Given the description of an element on the screen output the (x, y) to click on. 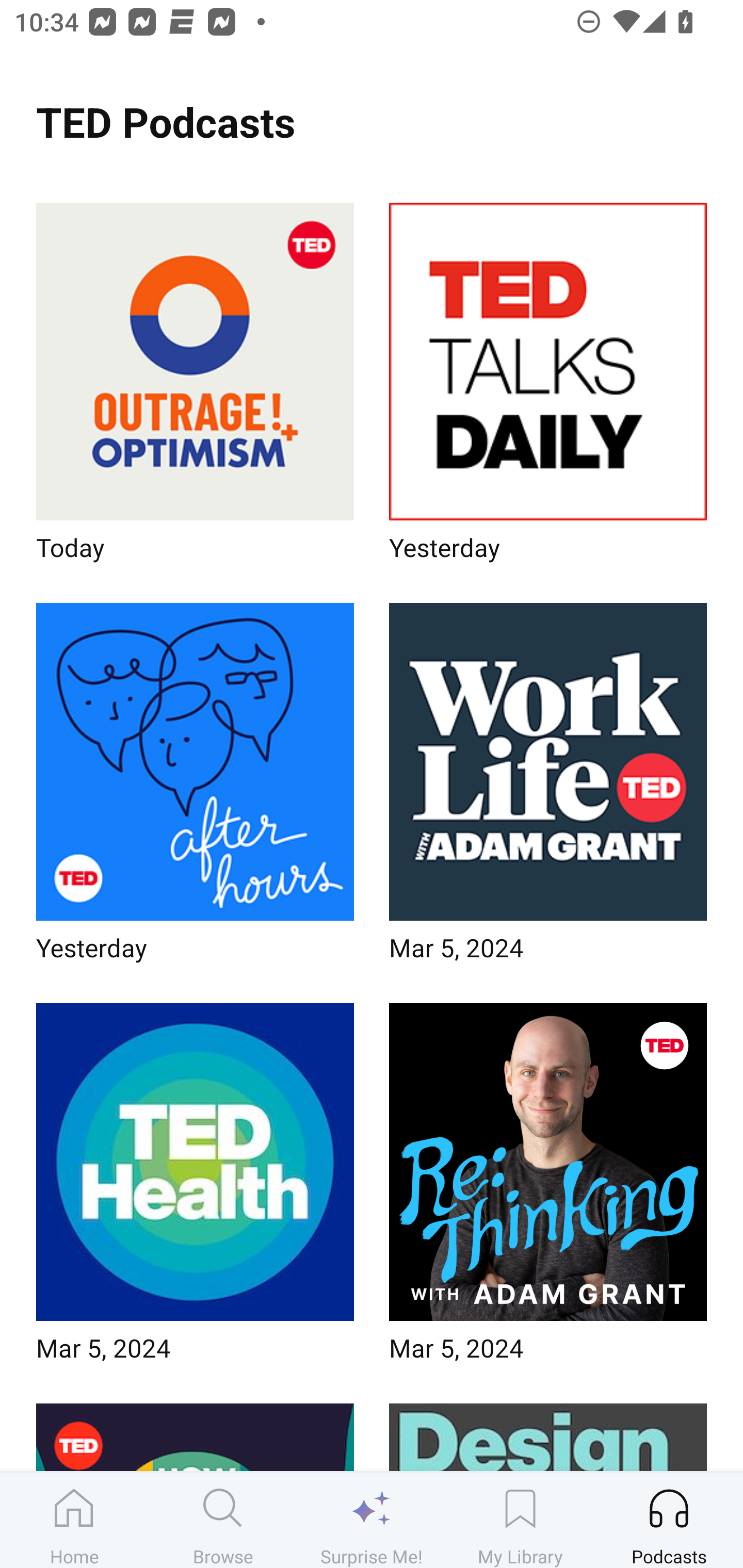
Today (194, 387)
Yesterday (547, 387)
Yesterday (194, 788)
Mar 5, 2024 (547, 788)
Mar 5, 2024 (194, 1189)
Mar 5, 2024 (547, 1189)
Home (74, 1520)
Browse (222, 1520)
Surprise Me! (371, 1520)
My Library (519, 1520)
Podcasts (668, 1520)
